Given the description of an element on the screen output the (x, y) to click on. 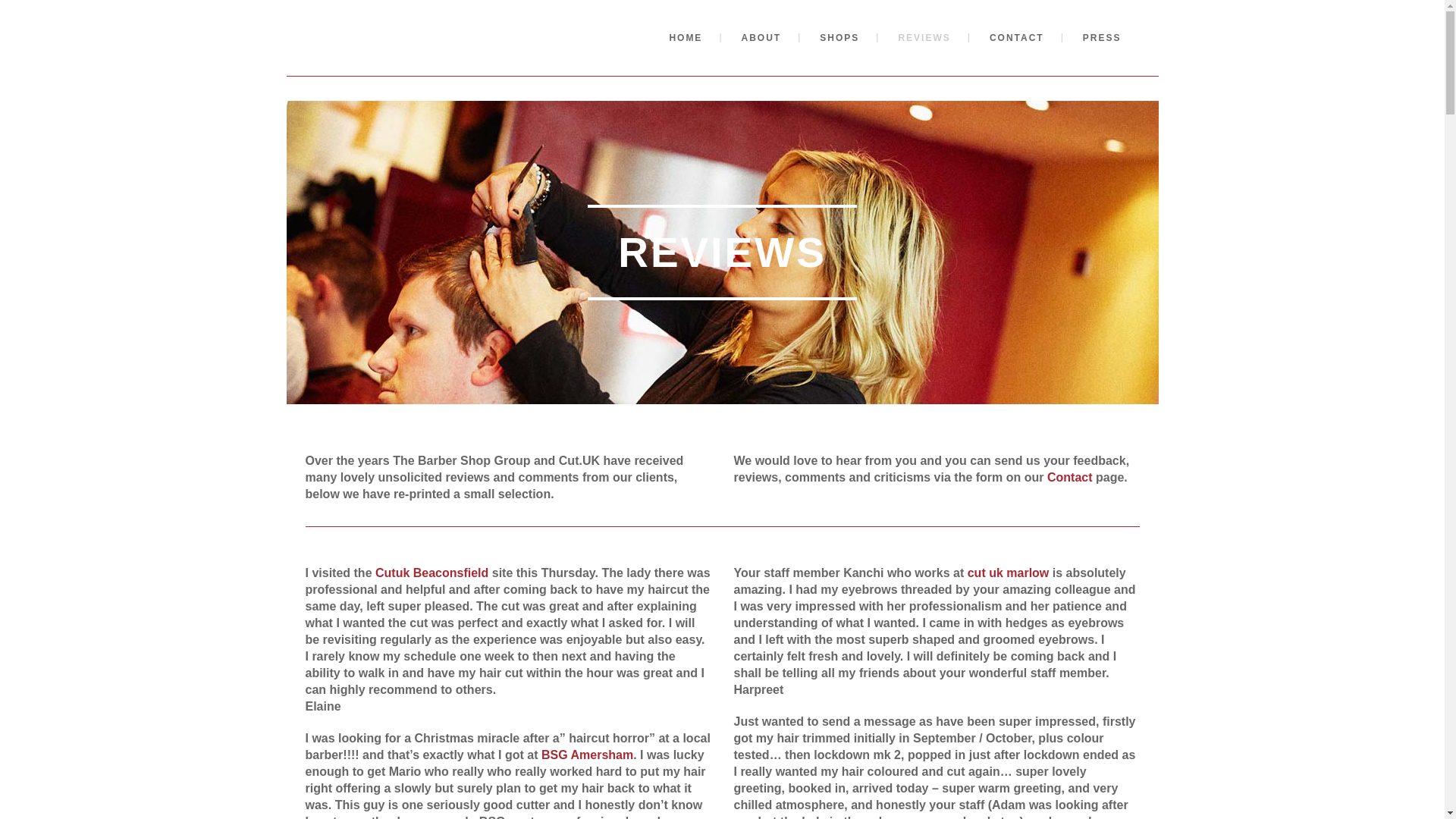
Contact Us (722, 38)
REVIEWS (1069, 477)
HOME (923, 38)
CONTACT (685, 38)
SHOPS (1016, 38)
PRESS (839, 38)
ABOUT (1102, 38)
